Given the description of an element on the screen output the (x, y) to click on. 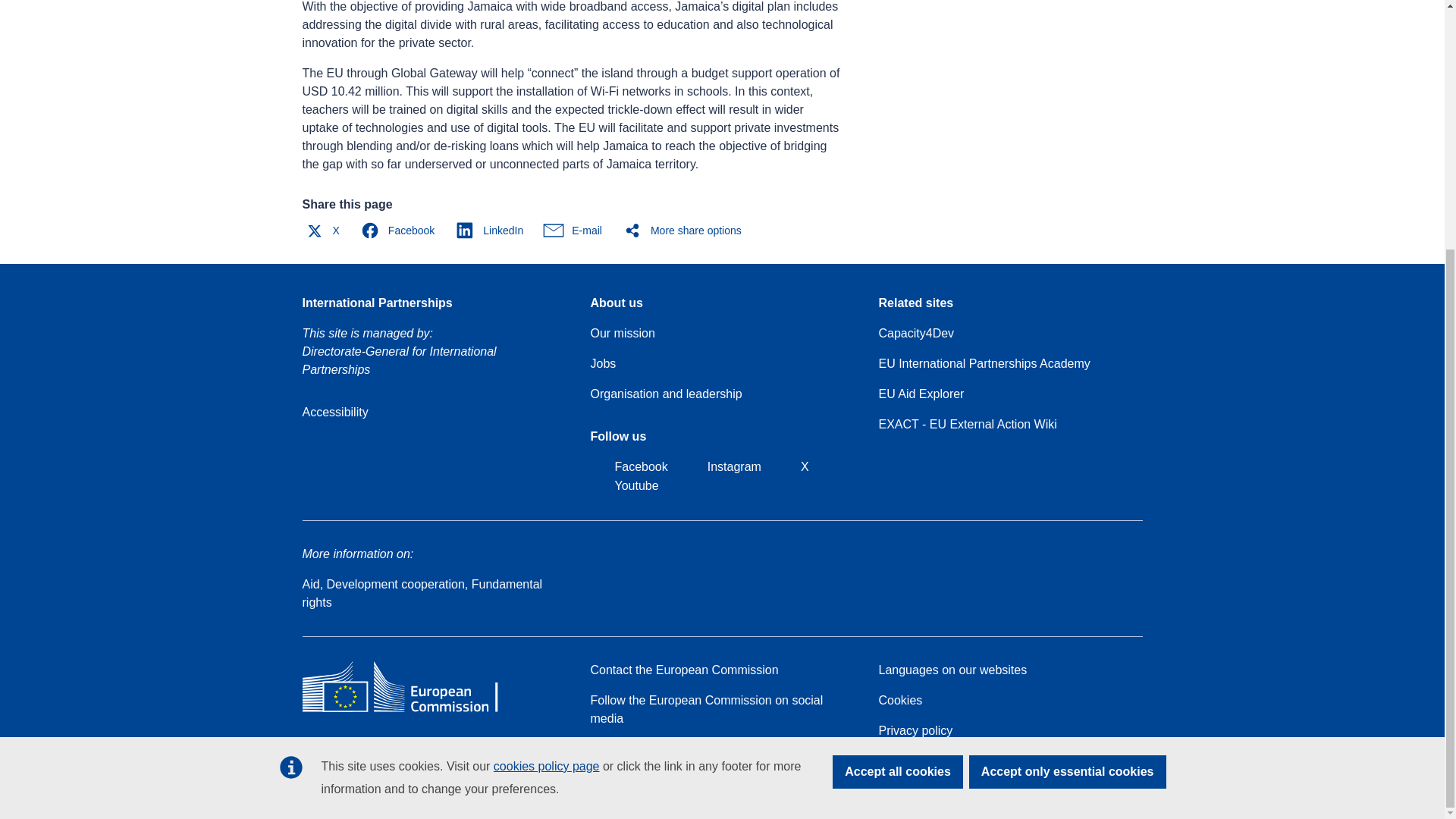
cookies policy page (546, 417)
European Commission (411, 711)
Accept all cookies (897, 422)
Accept only essential cookies (1067, 422)
